Given the description of an element on the screen output the (x, y) to click on. 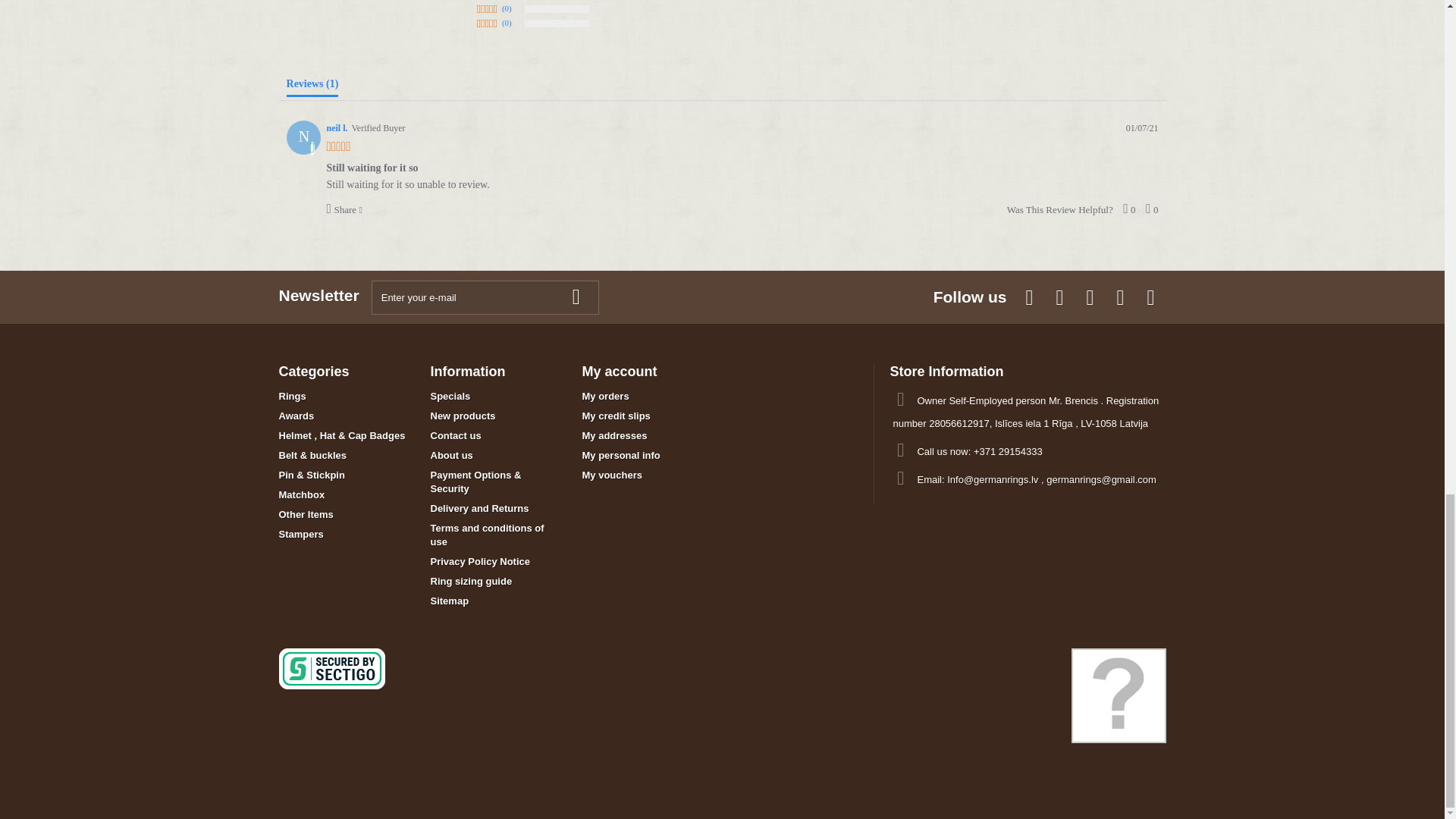
Enter your e-mail (484, 297)
